Given the description of an element on the screen output the (x, y) to click on. 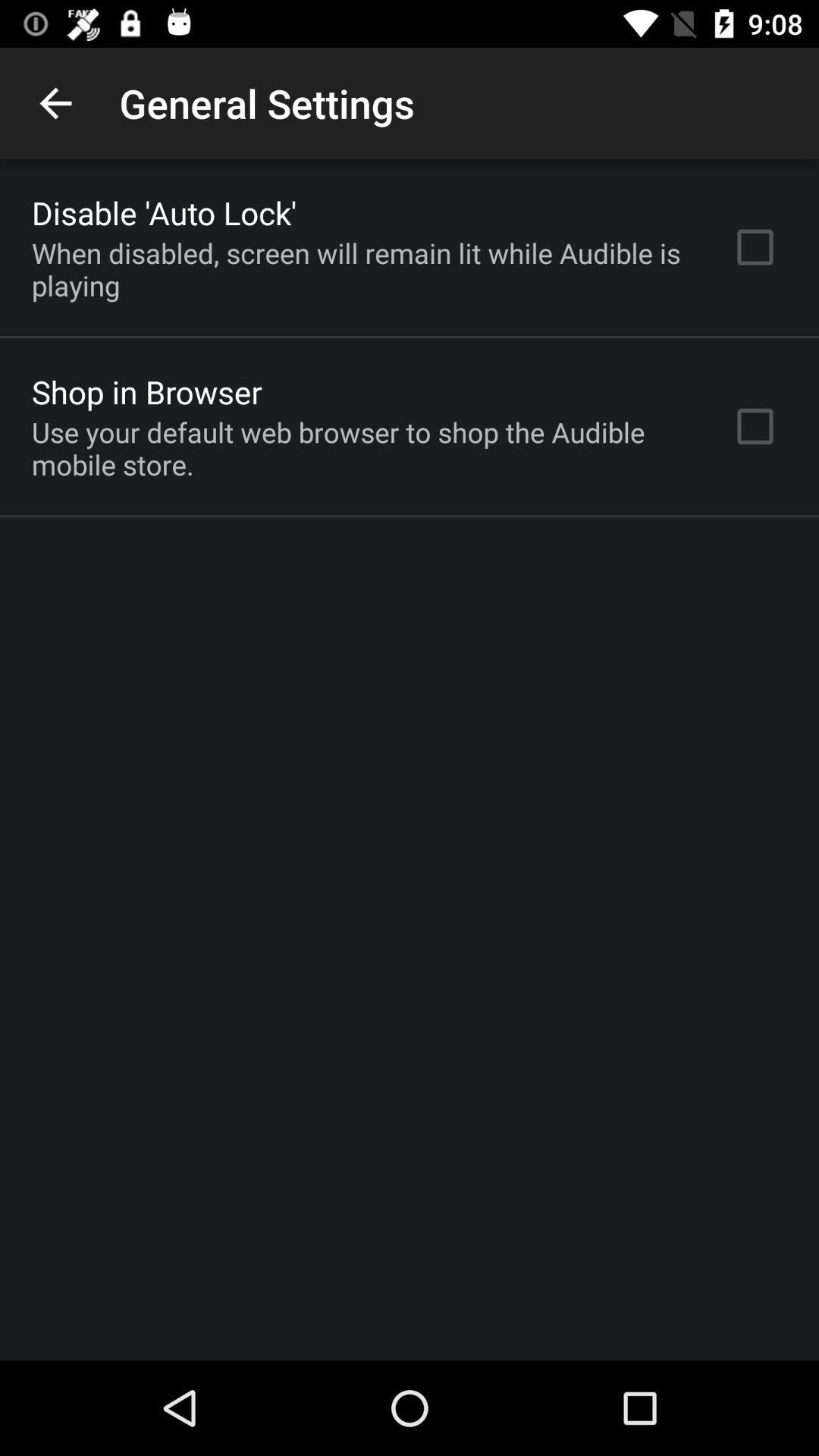
turn off when disabled screen (361, 269)
